Given the description of an element on the screen output the (x, y) to click on. 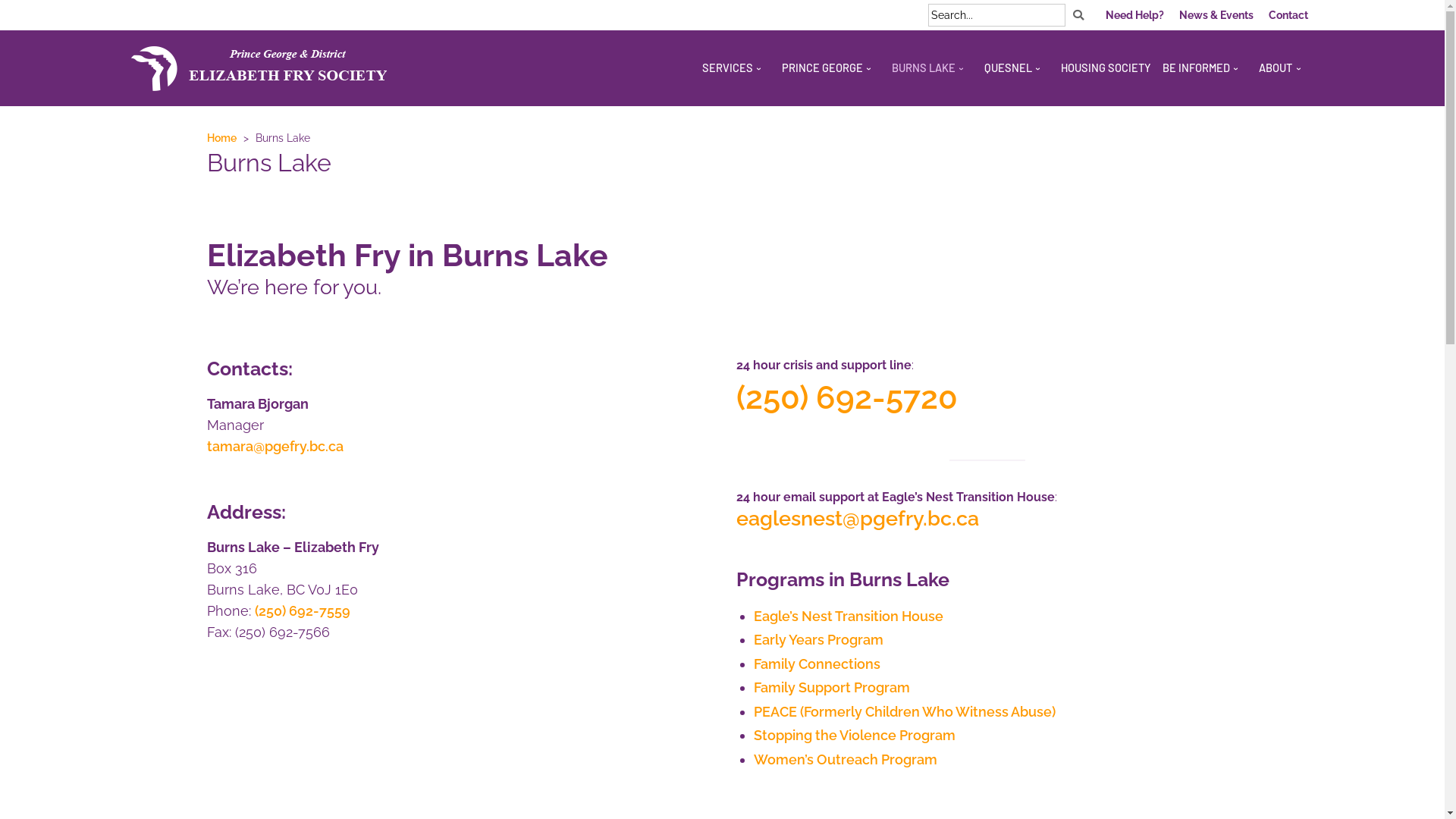
Search for: Element type: hover (996, 14)
eaglesnest@pgefry.bc.ca Element type: text (856, 518)
QUESNEL Element type: text (1016, 68)
Need Help? Element type: text (1133, 14)
tamara@pgefry.bc.ca Element type: text (274, 446)
Family Connections Element type: text (816, 663)
News & Events Element type: text (1215, 14)
Early Years Program Element type: text (818, 639)
Home Element type: text (220, 137)
Stopping the Violence Program Element type: text (854, 735)
(250) 692-7559 Element type: text (302, 610)
Family Support Program Element type: text (831, 687)
SERVICES Element type: text (736, 68)
(250) 692-5720 Element type: text (846, 397)
HOUSING SOCIETY Element type: text (1105, 68)
Contact Element type: text (1288, 14)
PRINCE GEORGE Element type: text (831, 68)
BE INFORMED Element type: text (1204, 68)
ABOUT Element type: text (1284, 68)
PEACE (Formerly Children Who Witness Abuse) Element type: text (904, 711)
BURNS LAKE Element type: text (932, 68)
